Given the description of an element on the screen output the (x, y) to click on. 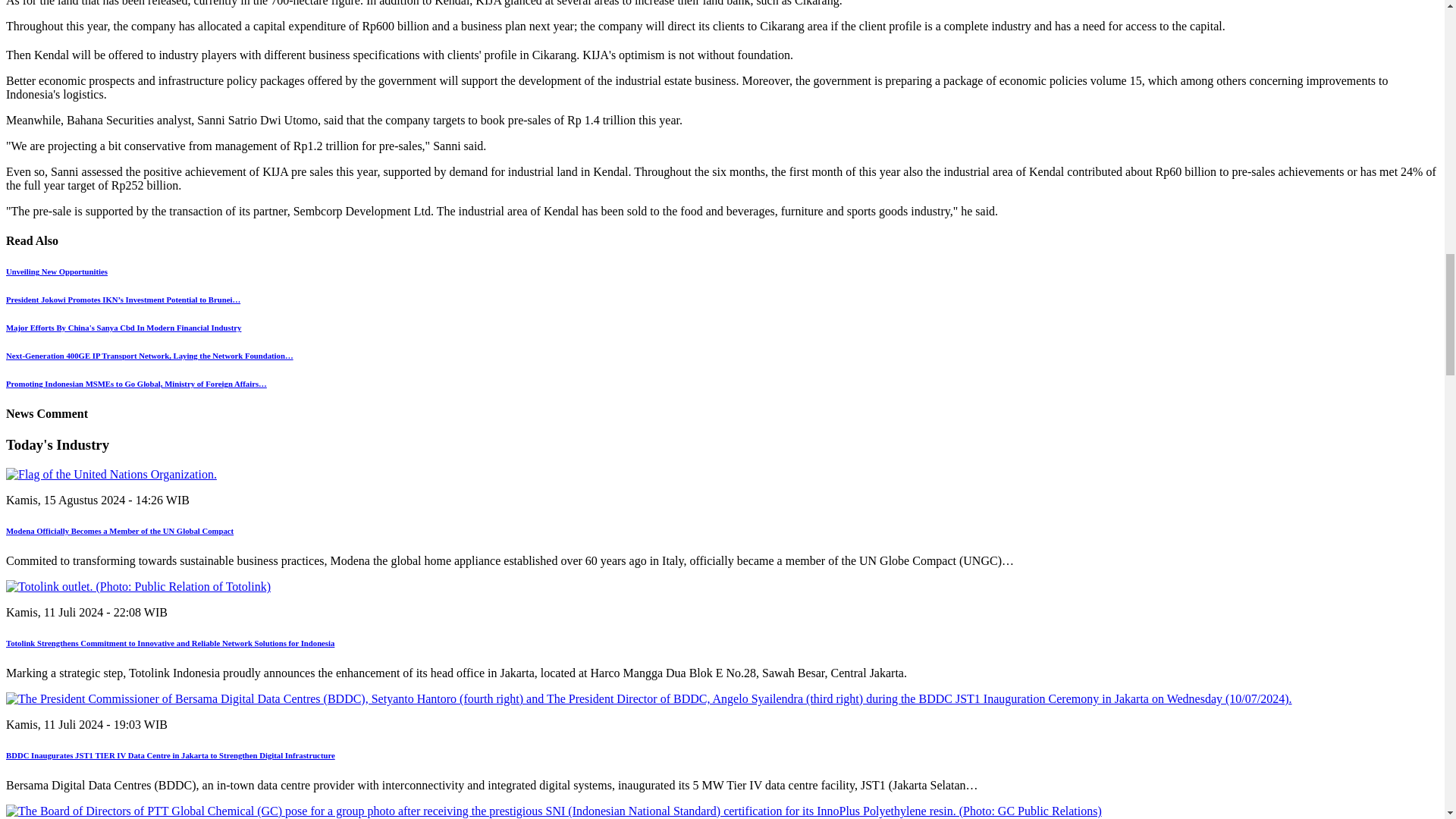
Unveiling New Opportunities (56, 271)
